Given the description of an element on the screen output the (x, y) to click on. 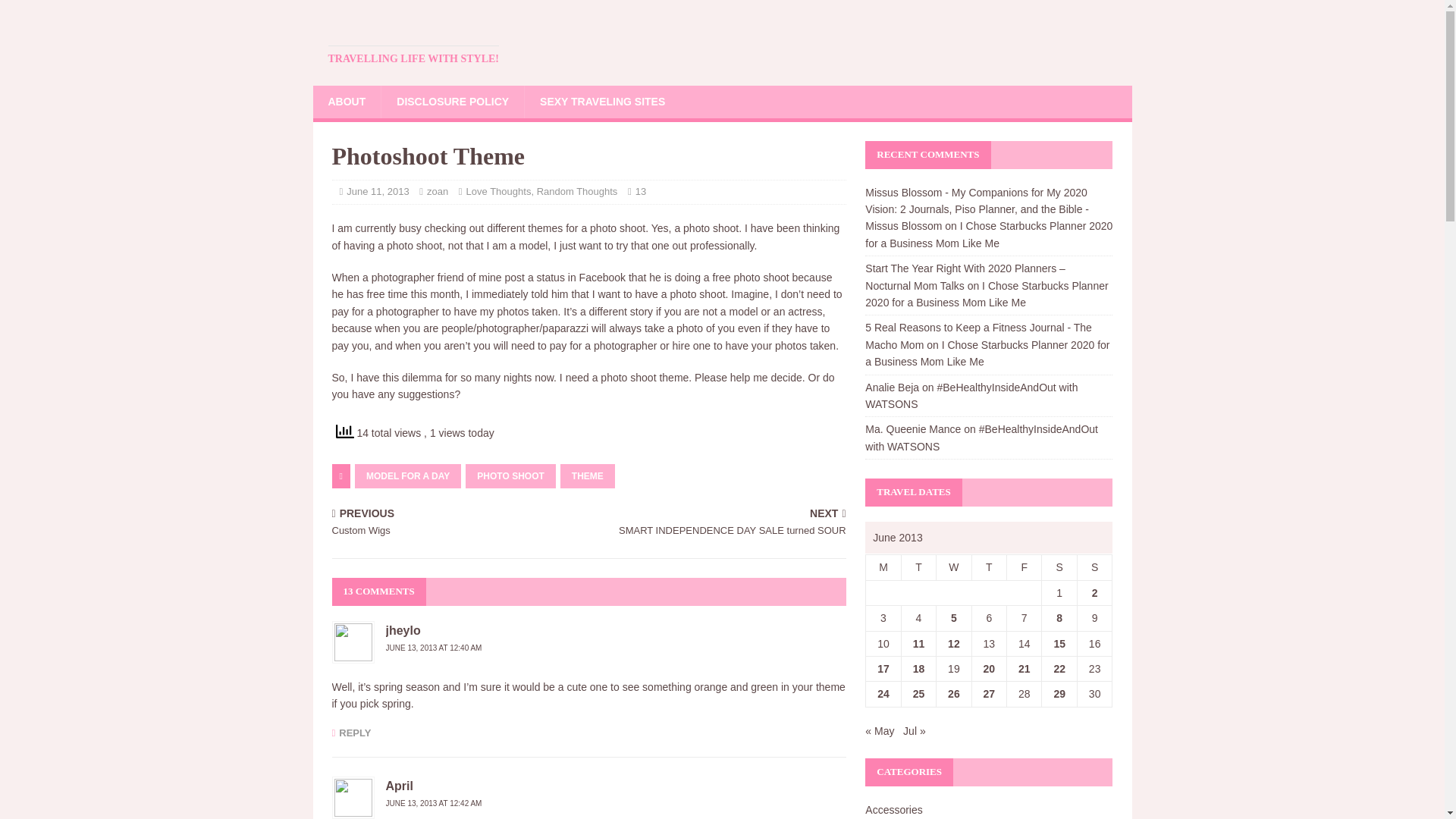
TRAVELLING LIFE WITH STYLE! (413, 58)
JUNE 13, 2013 AT 12:40 AM (433, 647)
13 (640, 191)
Thursday (457, 522)
ABOUT (988, 567)
Tuesday (346, 101)
Wednesday (918, 567)
JUNE 13, 2013 AT 12:42 AM (953, 567)
Random Thoughts (433, 803)
Love Thoughts (577, 191)
SEXY TRAVELING SITES (498, 191)
Monday (601, 101)
June 11, 2013 (883, 567)
Sunday (377, 191)
